Given the description of an element on the screen output the (x, y) to click on. 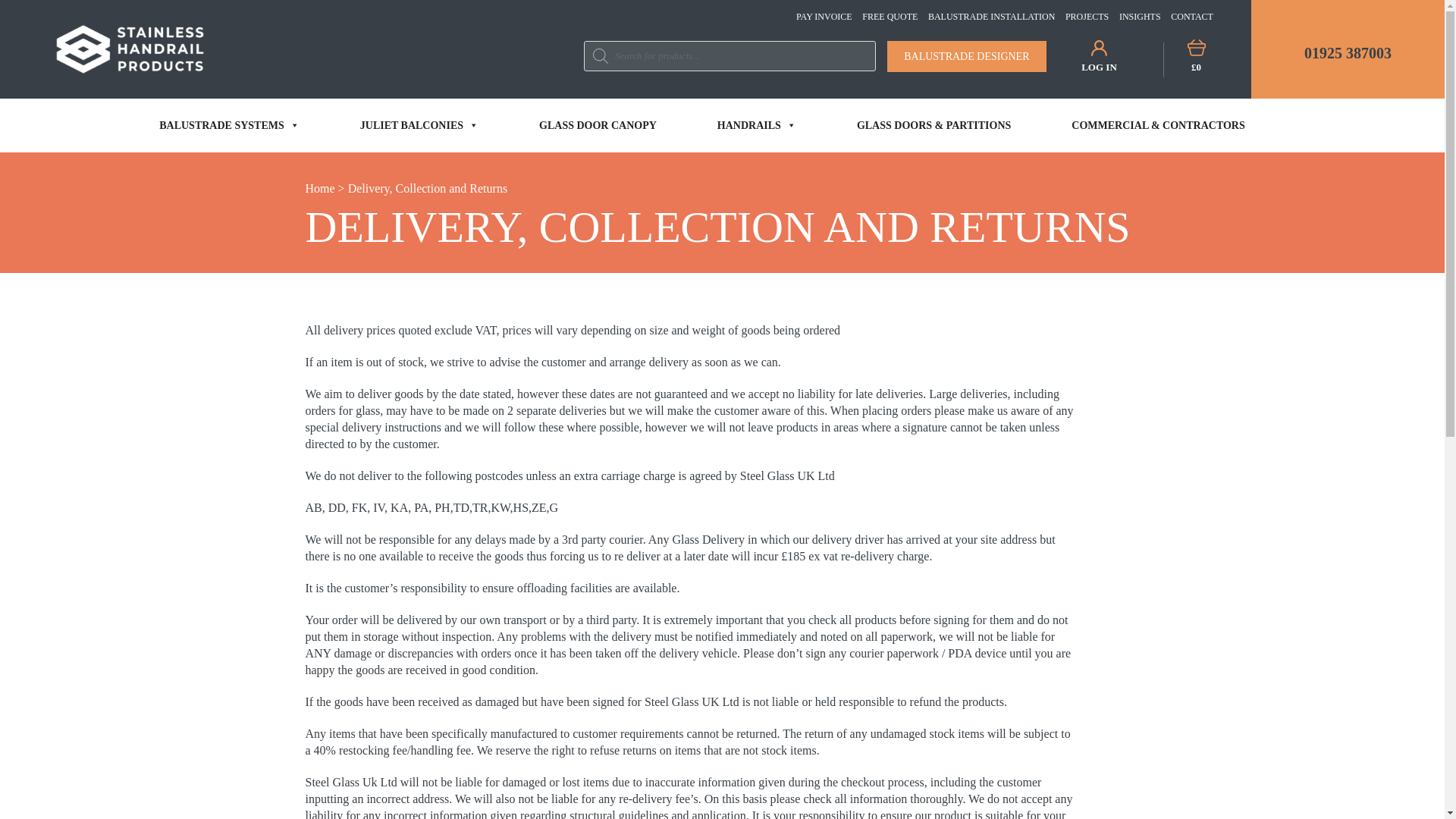
BALUSTRADE SYSTEMS (229, 125)
PAY INVOICE (823, 16)
PROJECTS (1086, 16)
CONTACT (1191, 16)
HANDRAILS (756, 125)
BALUSTRADE DESIGNER (966, 56)
JULIET BALCONIES (419, 125)
FREE QUOTE (889, 16)
LOG IN (1099, 59)
BALUSTRADE INSTALLATION (991, 16)
